Given the description of an element on the screen output the (x, y) to click on. 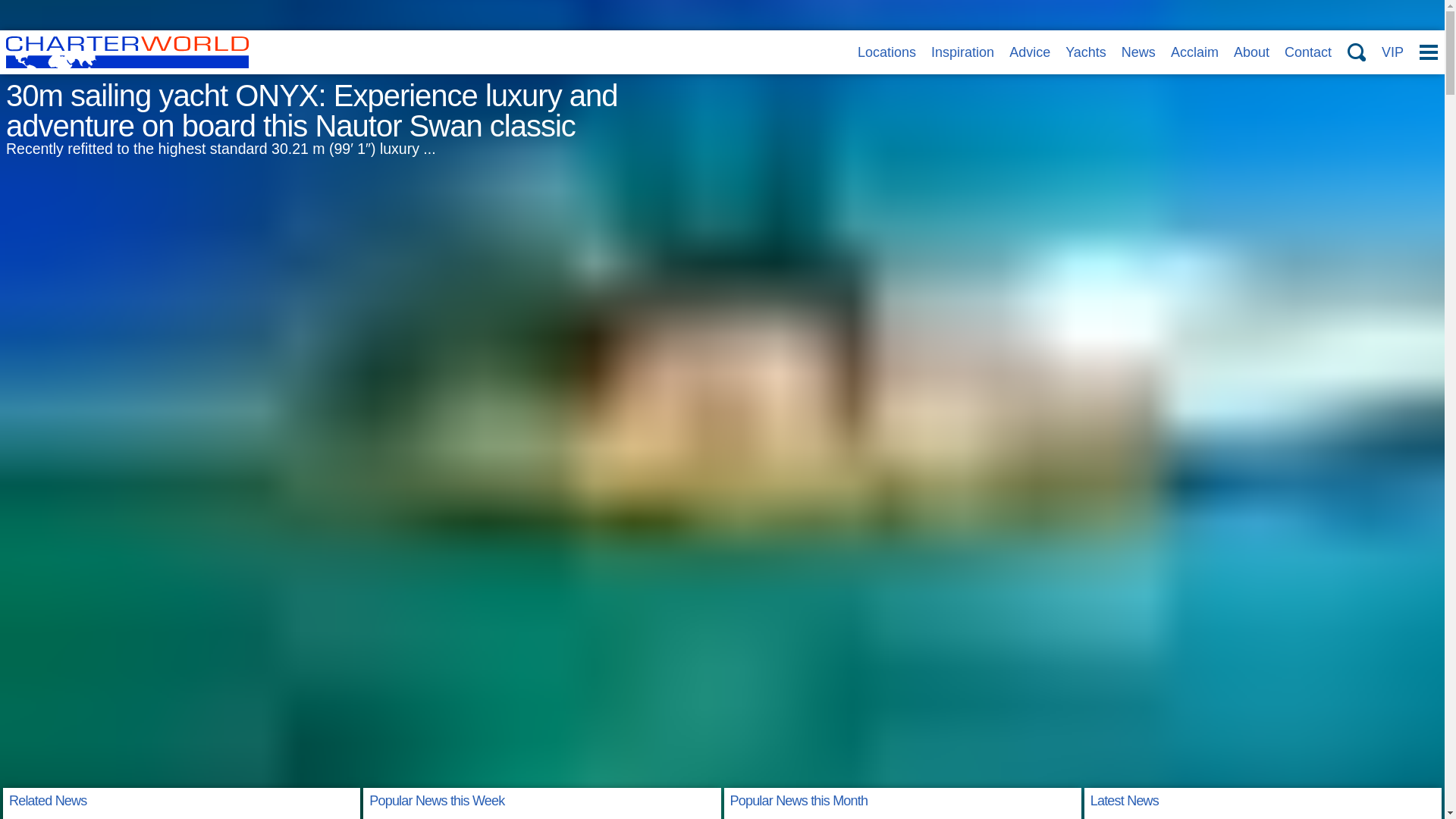
Locations (886, 51)
Contact (1308, 51)
Advice (1029, 51)
Inspiration (962, 51)
About (1251, 51)
Acclaim (1194, 51)
News (1138, 51)
Yachts (1085, 51)
